Given the description of an element on the screen output the (x, y) to click on. 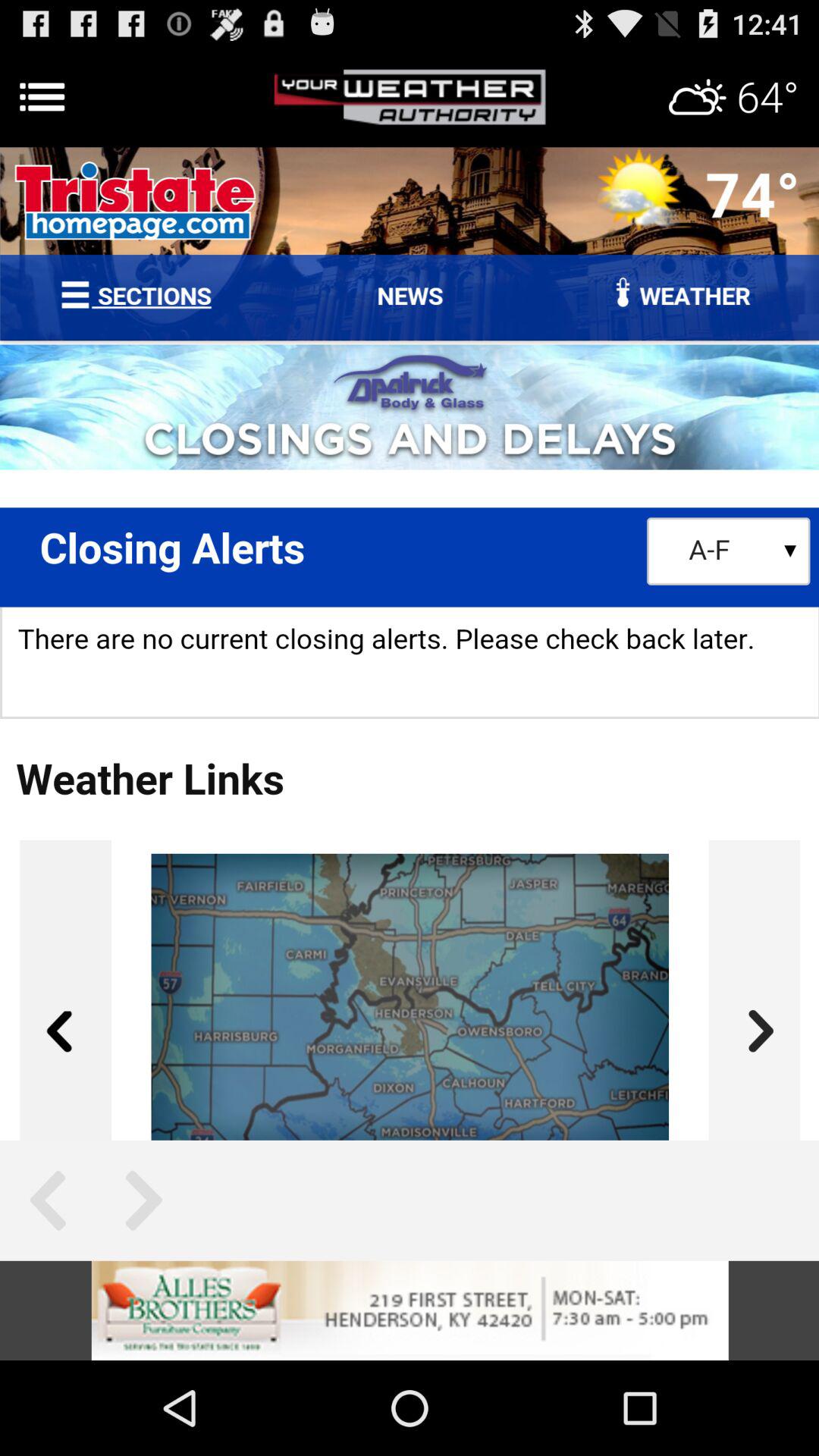
advertisement page (409, 1310)
